Given the description of an element on the screen output the (x, y) to click on. 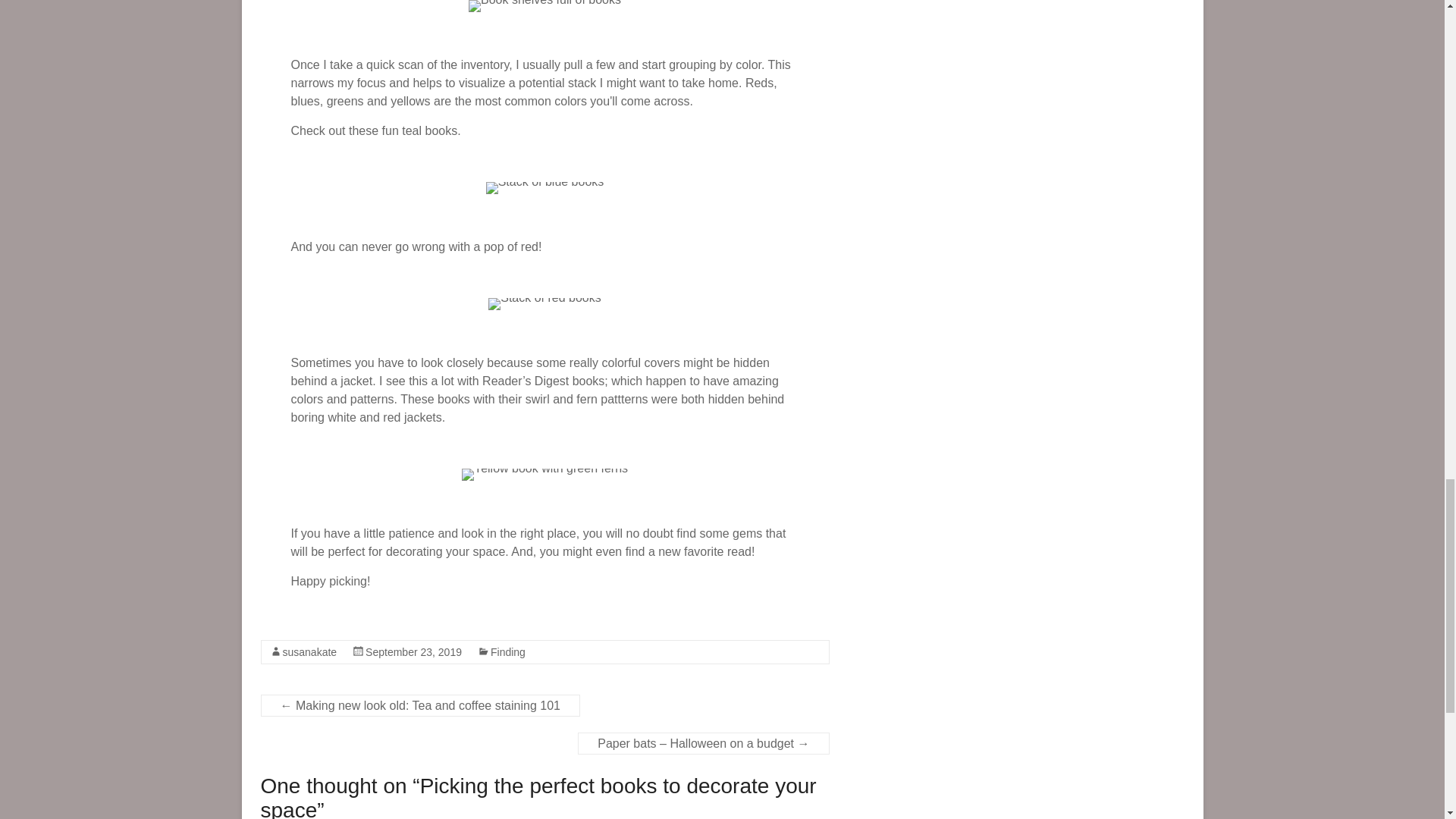
Finding (507, 652)
Stack of red books (544, 304)
10:12 pm (413, 652)
September 23, 2019 (413, 652)
Books at an estate sale (544, 6)
susanakate (309, 652)
Fern book (544, 474)
